Given the description of an element on the screen output the (x, y) to click on. 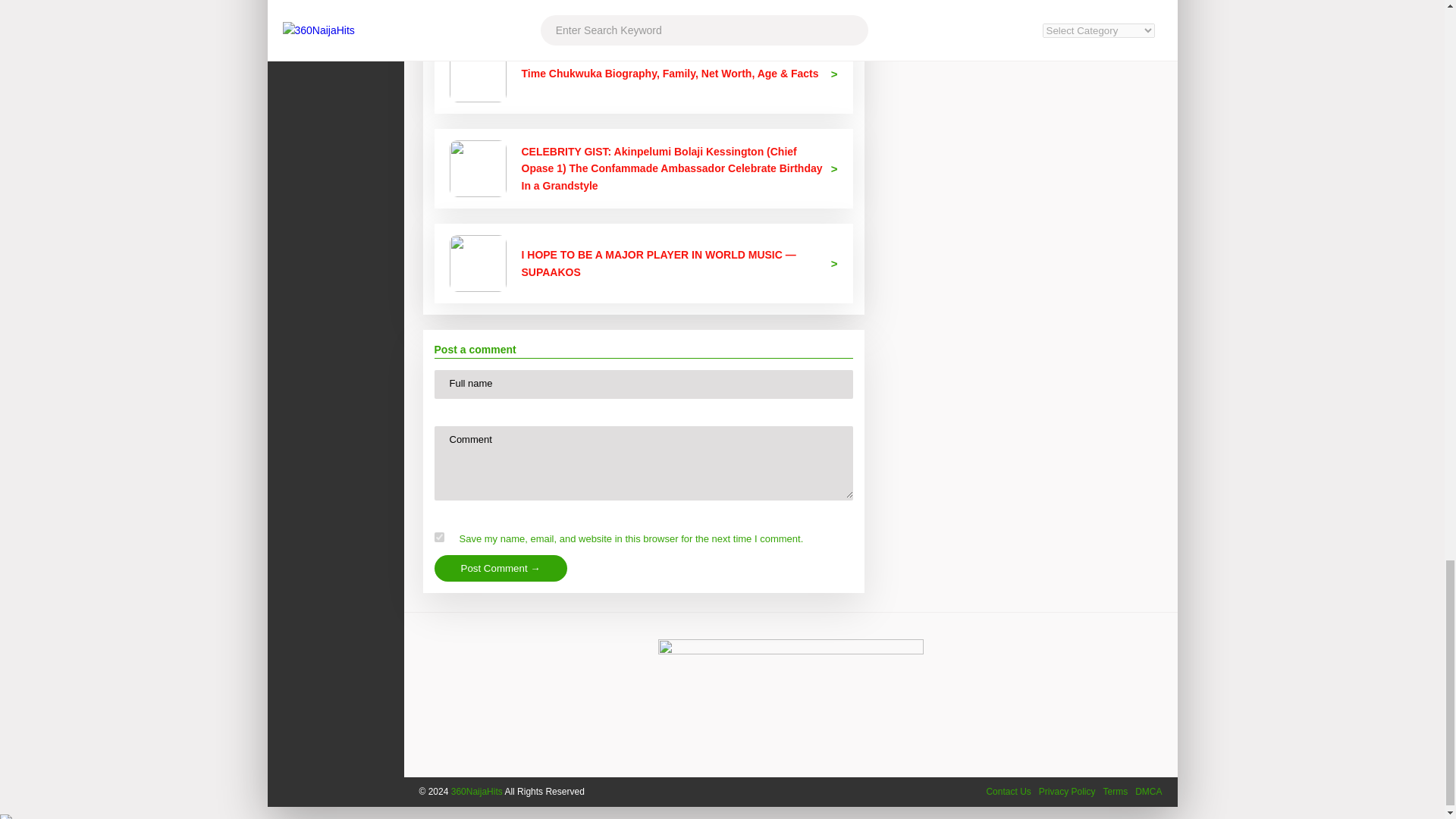
yes (438, 537)
